Given the description of an element on the screen output the (x, y) to click on. 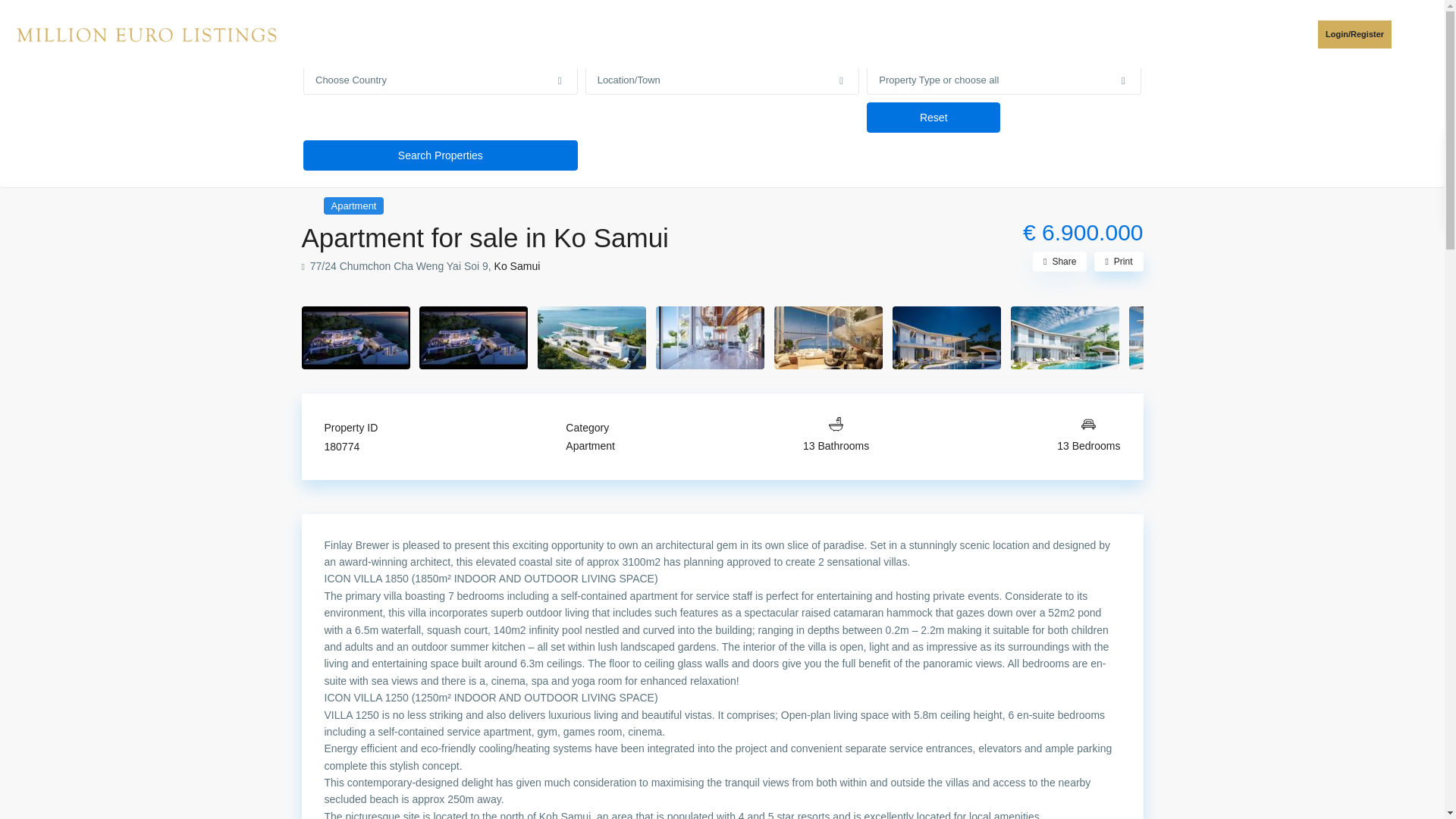
Search Properties (440, 155)
Search Properties (440, 155)
Reset (933, 117)
Ko Samui (517, 265)
About Us (892, 33)
List Your Property (794, 33)
Apartment (352, 205)
Contact Us (972, 33)
